Given the description of an element on the screen output the (x, y) to click on. 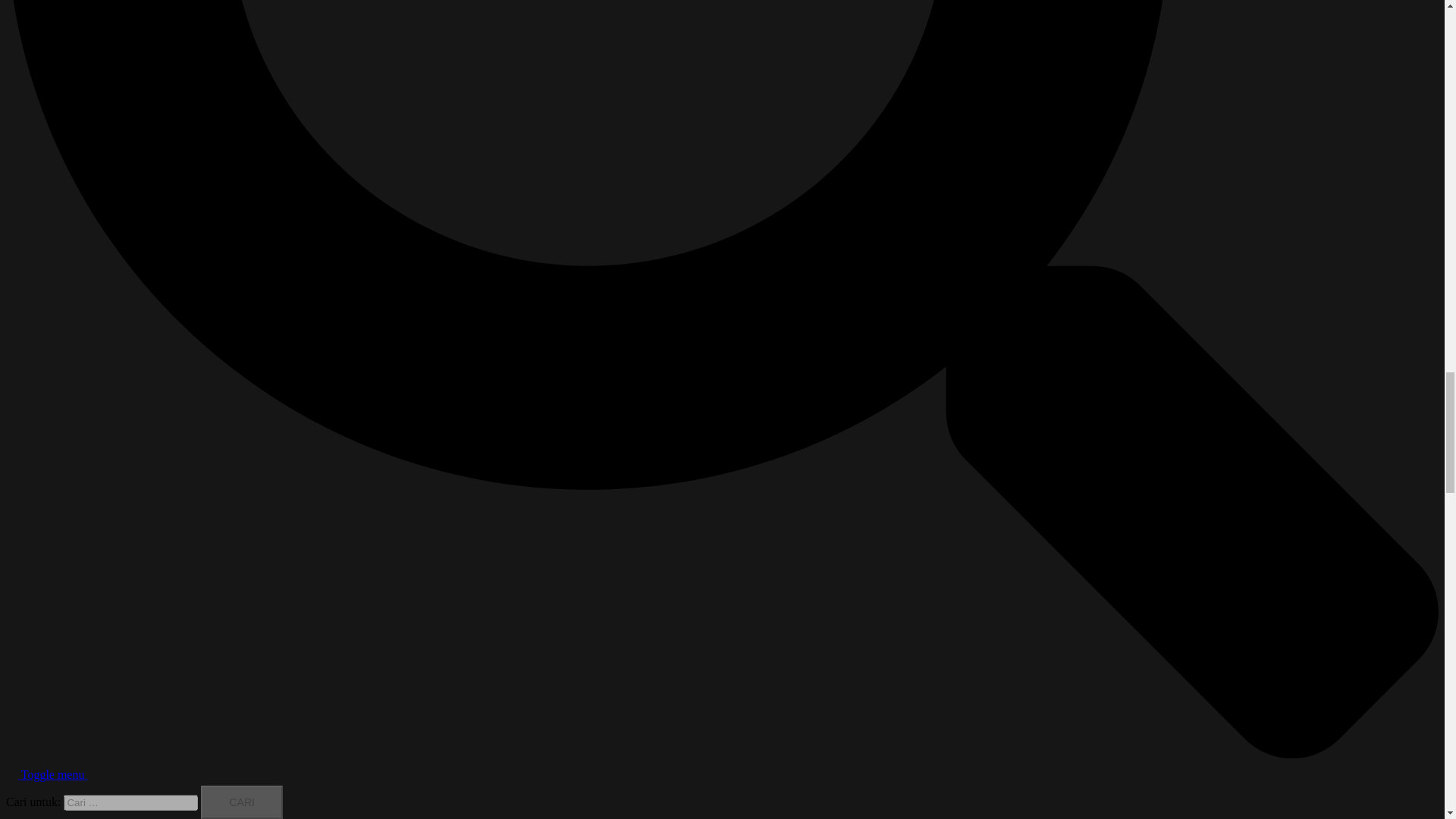
Cari (241, 802)
Cari (241, 802)
Toggle menu (60, 774)
Cari (241, 802)
